Given the description of an element on the screen output the (x, y) to click on. 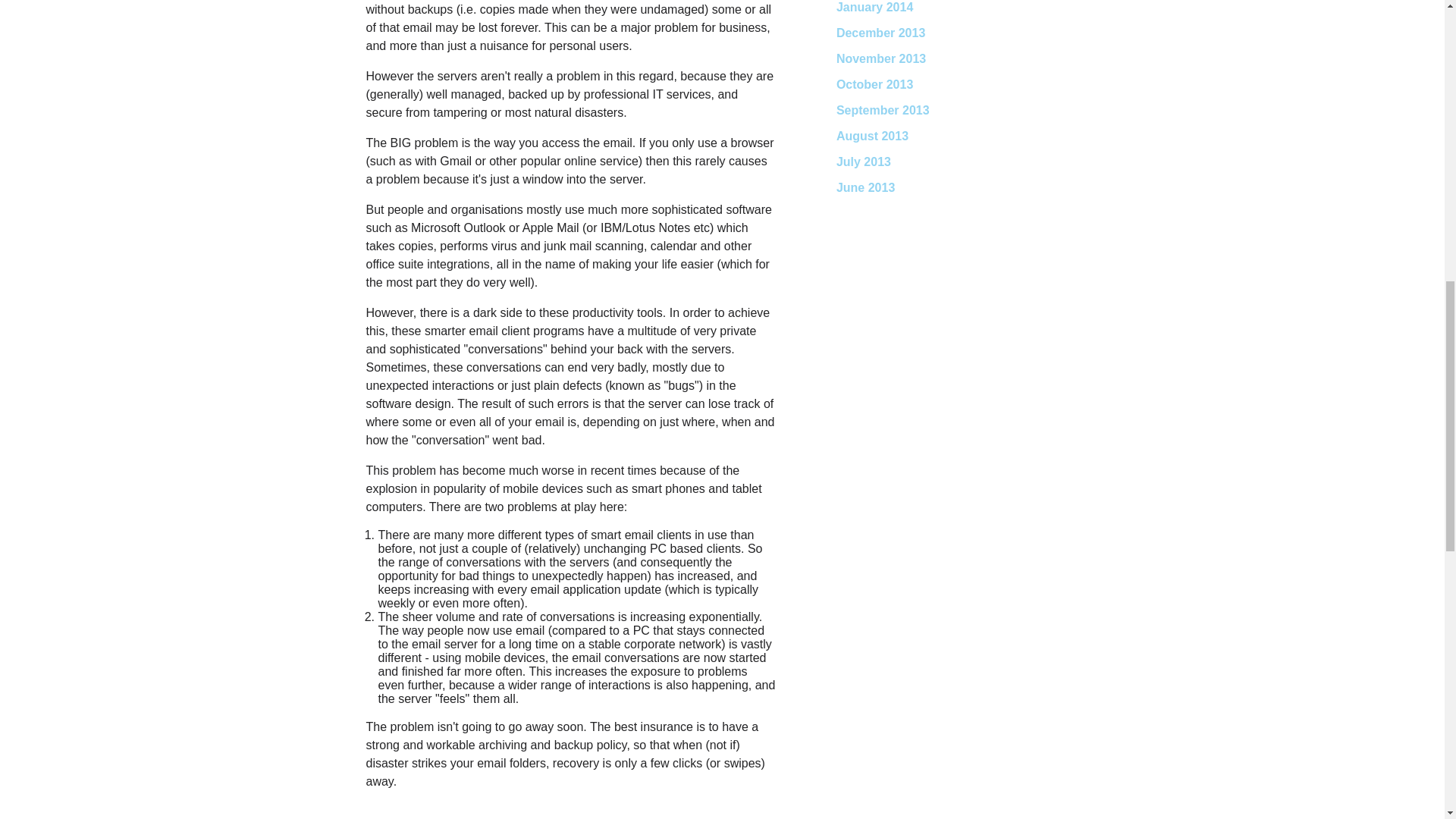
December 2013 (879, 32)
November 2013 (880, 58)
October 2013 (873, 83)
June 2013 (865, 187)
July 2013 (863, 161)
September 2013 (882, 110)
January 2014 (873, 6)
August 2013 (871, 135)
